Given the description of an element on the screen output the (x, y) to click on. 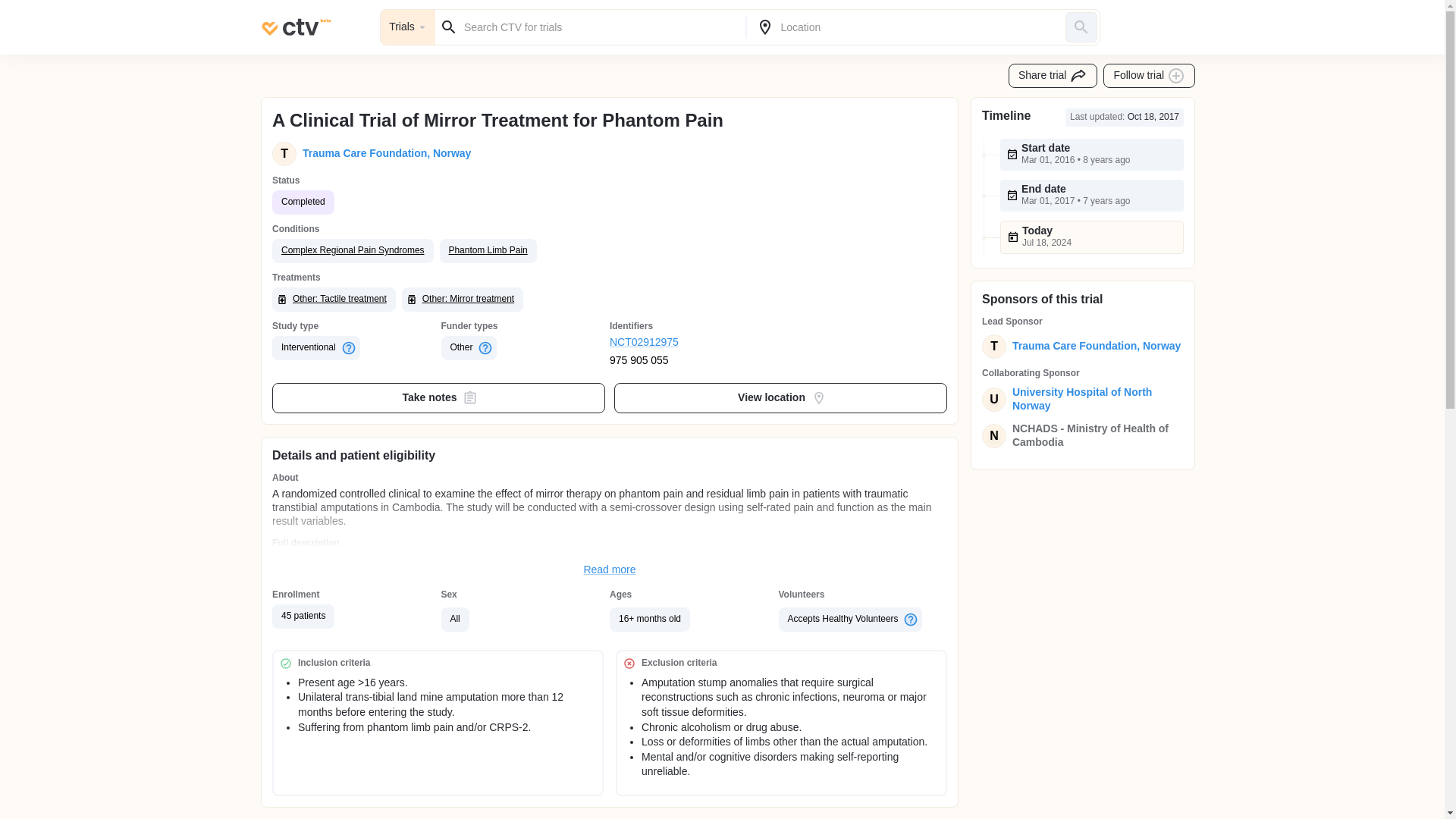
Share trial (1053, 75)
View location (780, 398)
University Hospital of North Norway (1094, 399)
Follow trial (1149, 75)
Trauma Care Foundation, Norway (1093, 345)
Take notes (438, 398)
Trauma Care Foundation, Norway (383, 153)
Trials (407, 27)
NCT02912975 (694, 342)
Read more (609, 570)
